Given the description of an element on the screen output the (x, y) to click on. 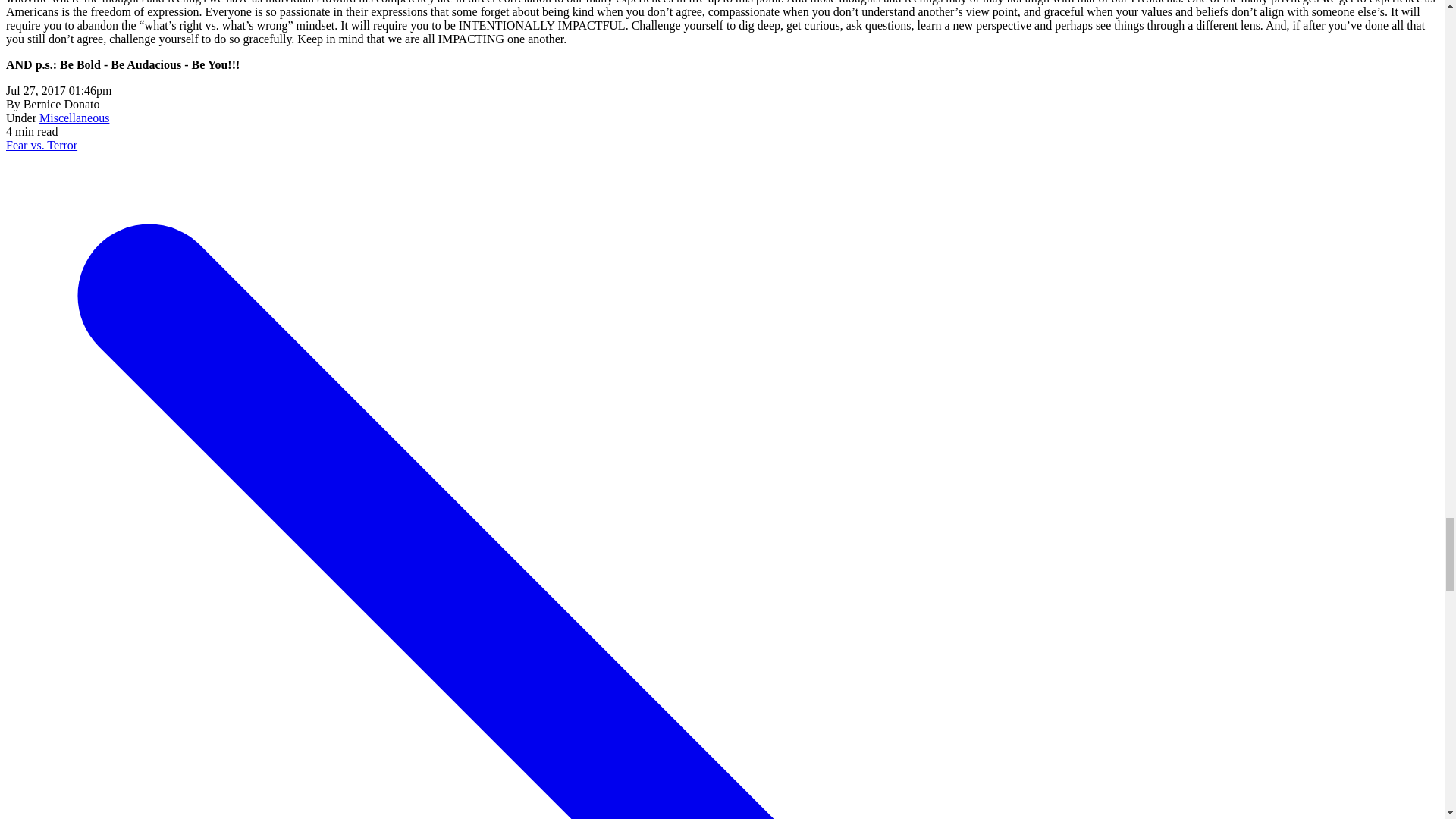
Miscellaneous (74, 117)
